Given the description of an element on the screen output the (x, y) to click on. 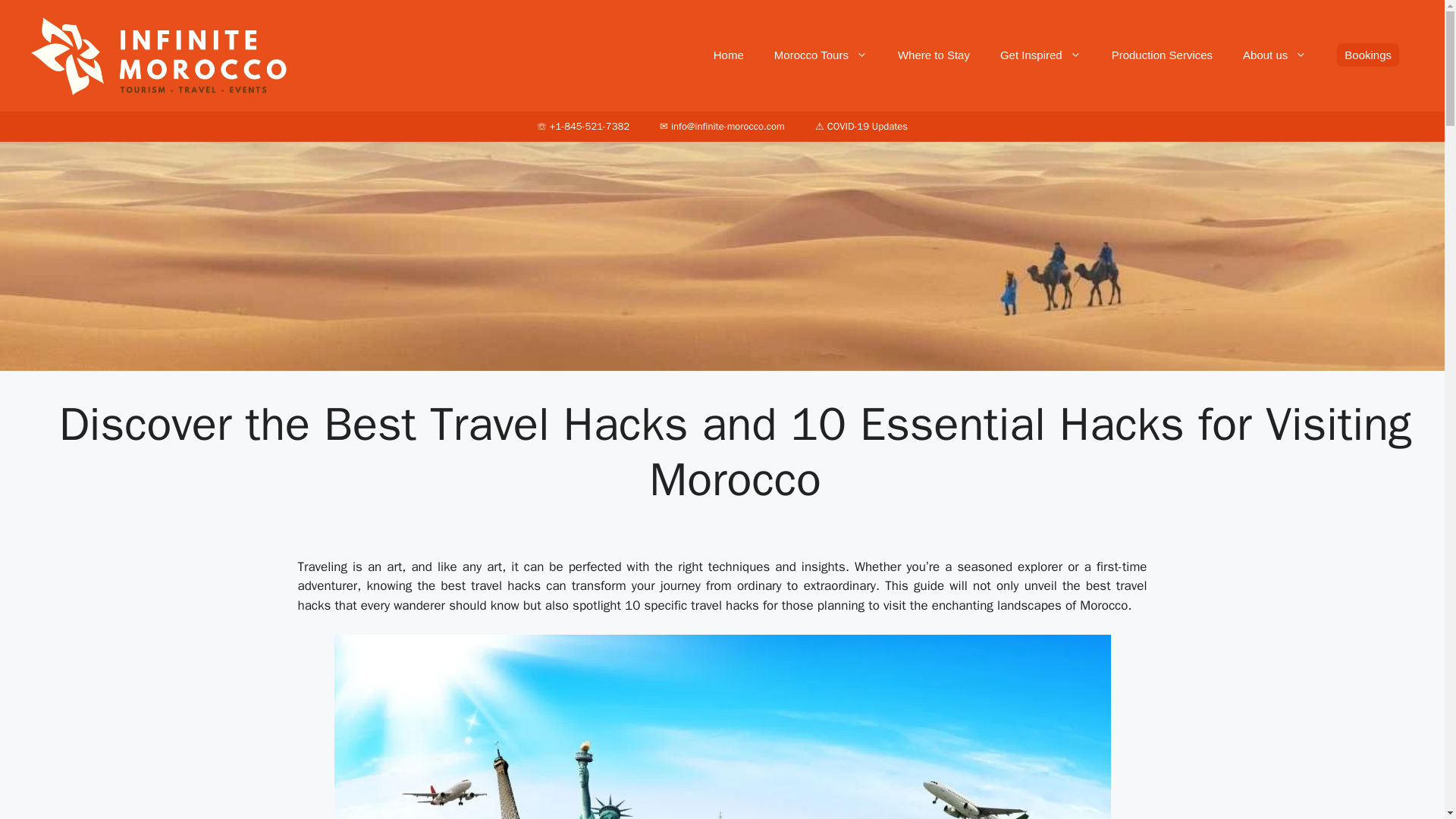
Morocco Tours (820, 54)
Production Services (1161, 54)
Get Inspired (1040, 54)
Morocco Tours (820, 54)
About us (1274, 54)
Bookings (1367, 54)
Best places to visit in Morocco (1040, 54)
Where to Stay (933, 54)
Home (728, 54)
